Given the description of an element on the screen output the (x, y) to click on. 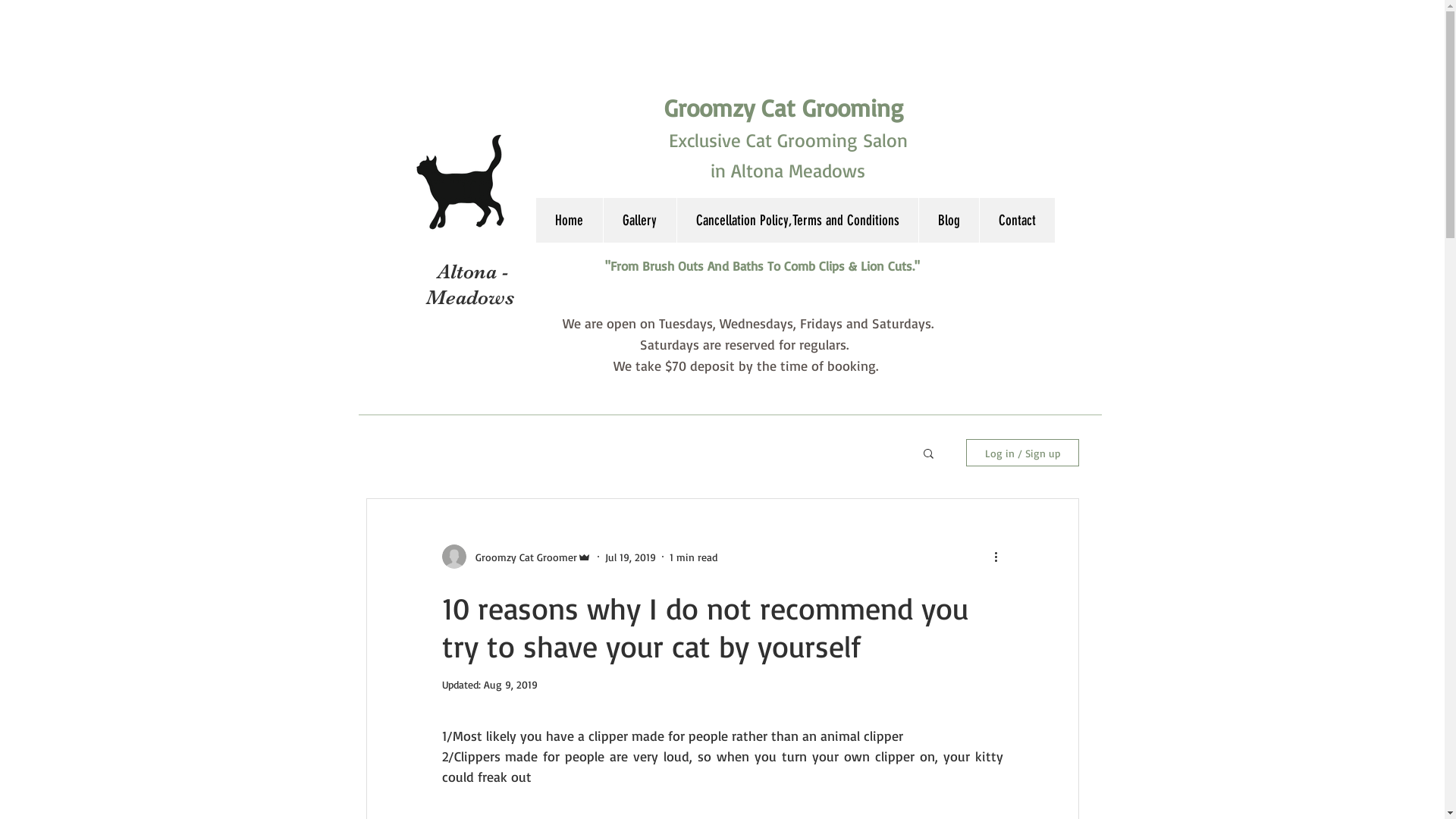
Contact Element type: text (1016, 219)
Gallery Element type: text (638, 219)
Home Element type: text (568, 219)
Blog Element type: text (947, 219)
Log in / Sign up Element type: text (1022, 452)
Cancellation Policy,Terms and Conditions Element type: text (797, 219)
